Given the description of an element on the screen output the (x, y) to click on. 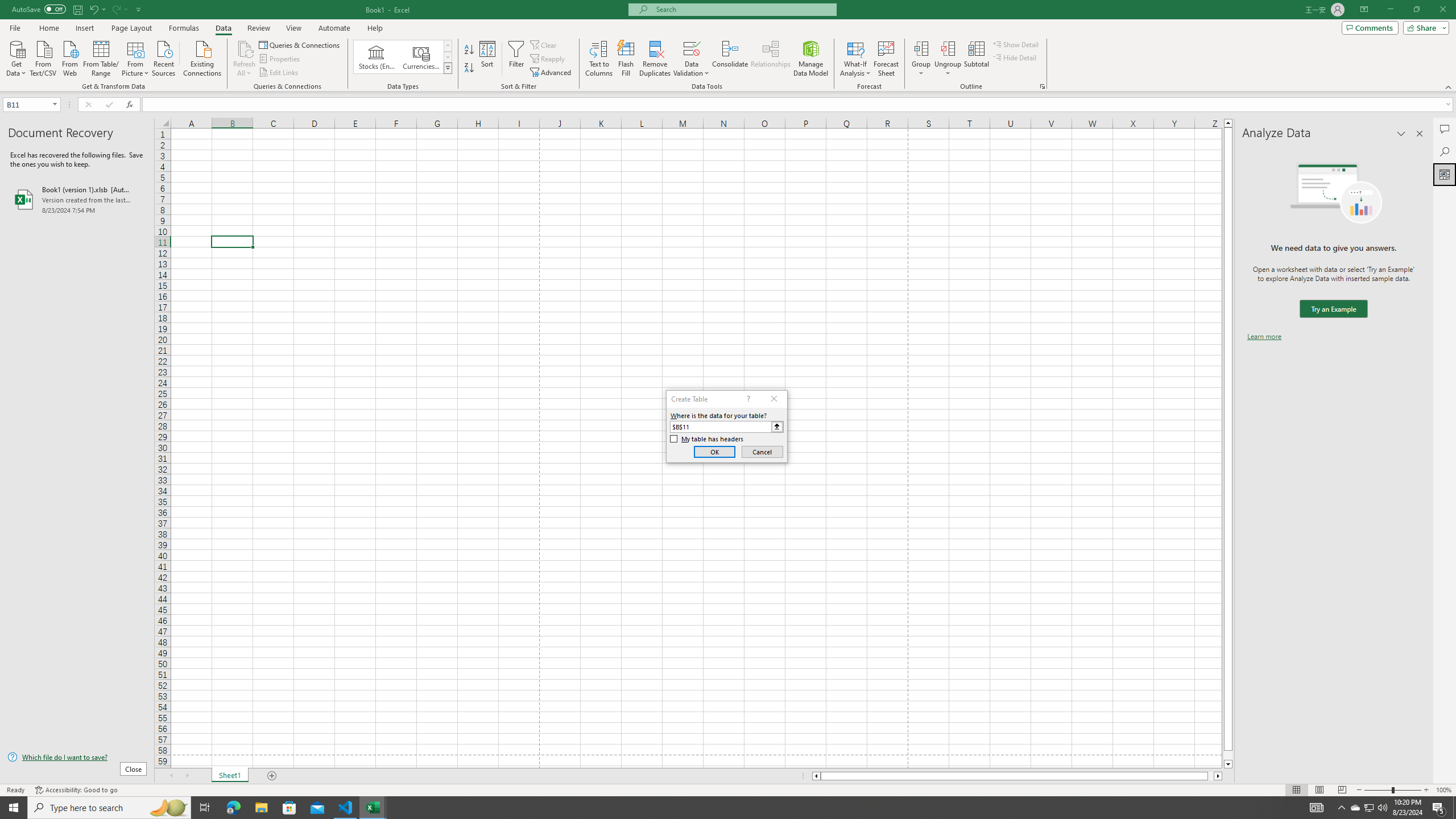
Column right (1218, 775)
Book1 (version 1).xlsb  [AutoRecovered] (77, 199)
From Text/CSV (43, 57)
Which file do I want to save? (77, 757)
Redo (119, 9)
Advanced... (551, 72)
Class: NetUIImage (447, 68)
Sort... (487, 58)
Review (258, 28)
Relationships (770, 58)
Page down (1228, 755)
File Tab (15, 27)
Help (374, 28)
What-If Analysis (855, 58)
